Given the description of an element on the screen output the (x, y) to click on. 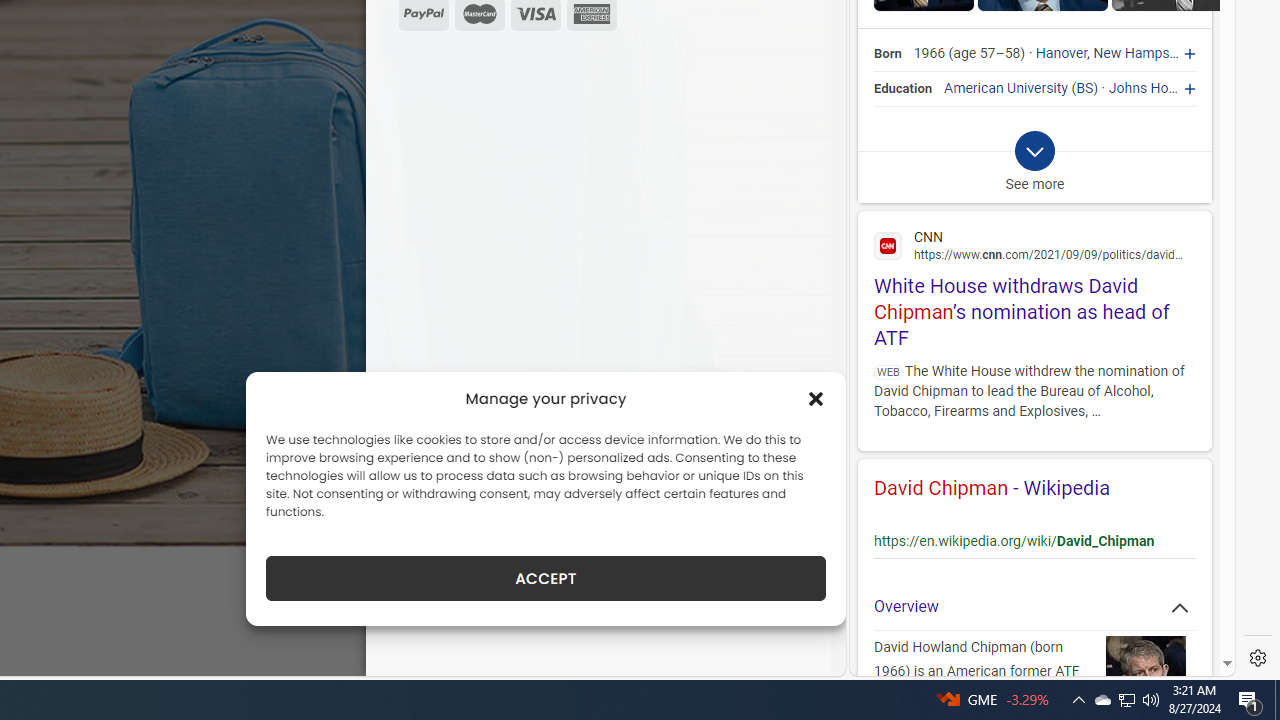
Class: b_exp_chevron_svg b_expmob_chev (1034, 151)
ACCEPT (545, 578)
CNN (1034, 244)
Johns Hopkins University (1187, 88)
Hanover (1061, 53)
Overview (1034, 606)
New Hampshire (1142, 53)
Actions for this site (1163, 525)
Born (888, 53)
Education (903, 88)
